Given the description of an element on the screen output the (x, y) to click on. 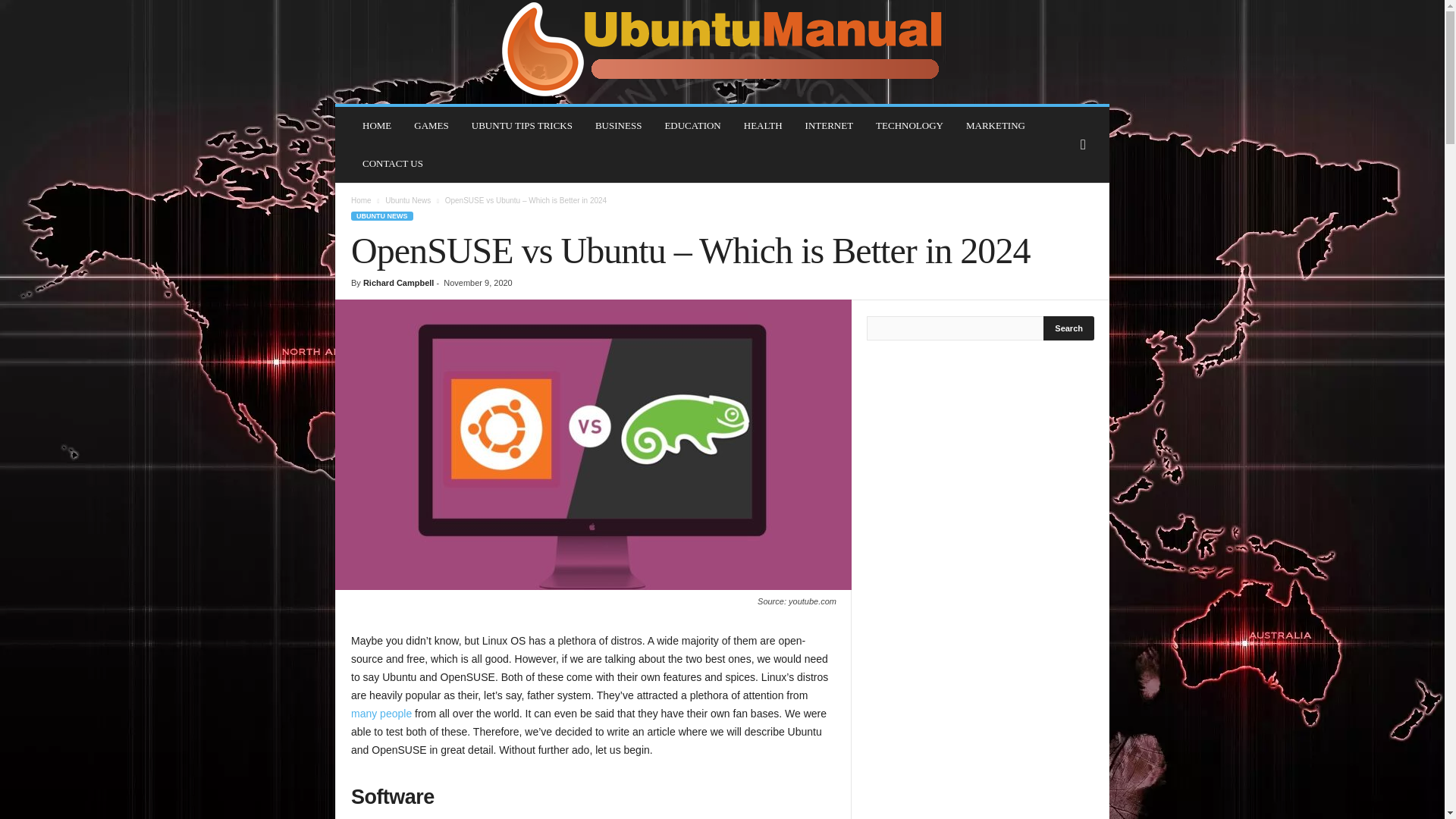
HEALTH (762, 125)
UBUNTU TIPS TRICKS (521, 125)
many people (381, 713)
EDUCATION (692, 125)
GAMES (431, 125)
Richard Campbell (397, 282)
UBUNTU NEWS (381, 215)
MARKETING (995, 125)
Ubuntu News (407, 200)
BUSINESS (617, 125)
Home (360, 200)
Ubuntu Manual (721, 52)
HOME (376, 125)
View all posts in Ubuntu News (407, 200)
